Given the description of an element on the screen output the (x, y) to click on. 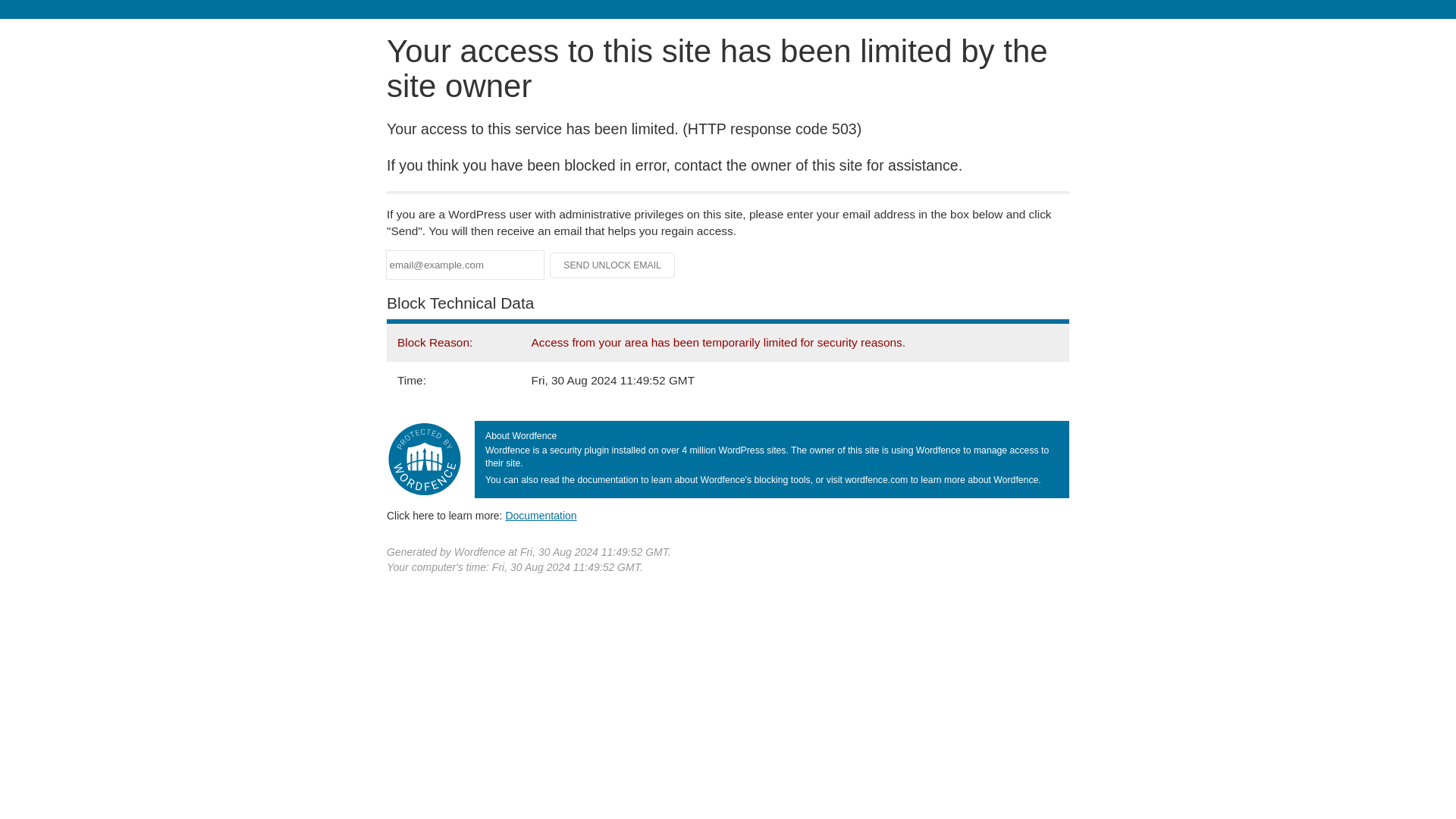
Send Unlock Email (612, 265)
Send Unlock Email (612, 265)
Documentation (540, 515)
